Given the description of an element on the screen output the (x, y) to click on. 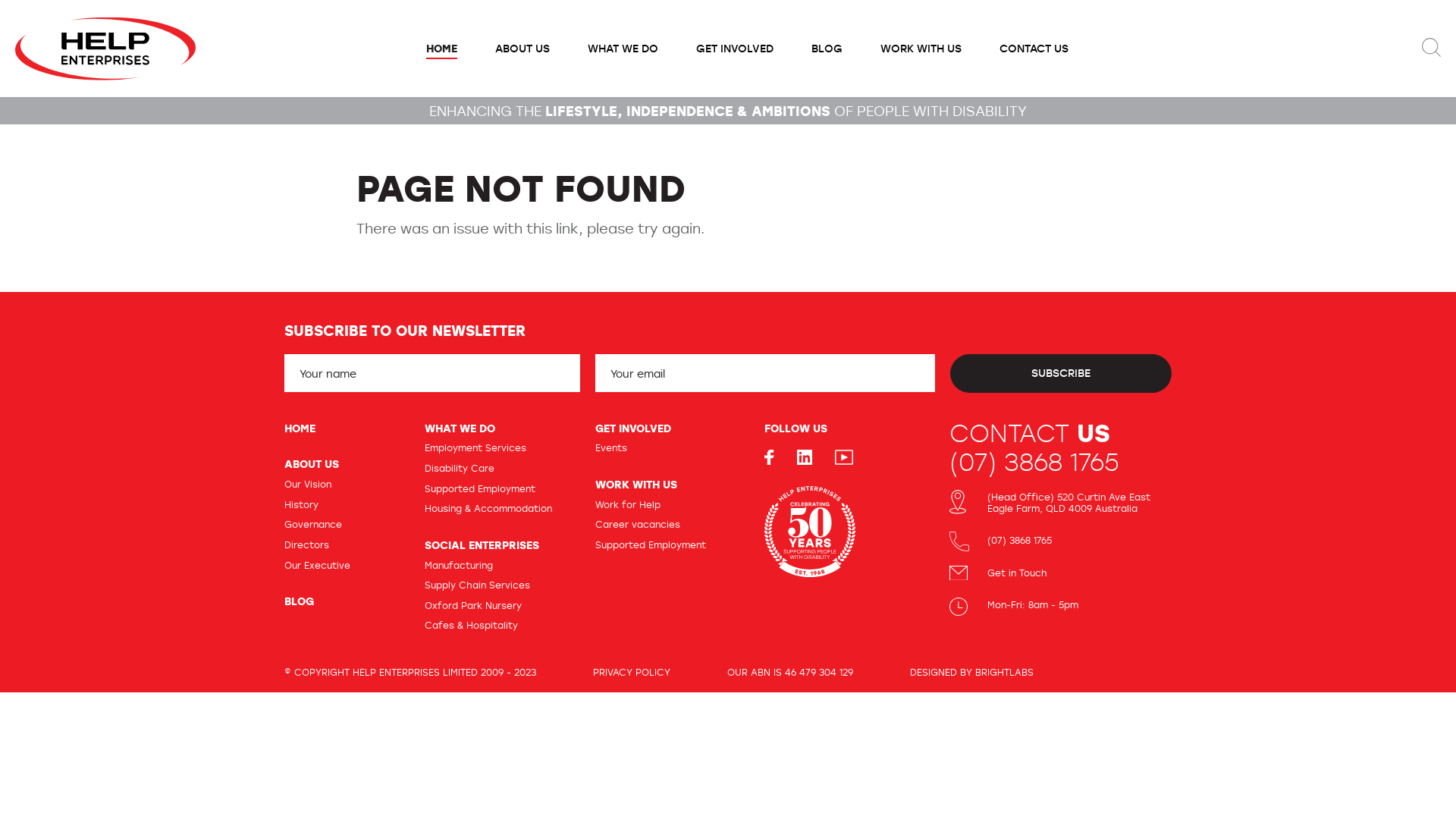
Disability Care Element type: text (459, 467)
Employment Services Element type: text (475, 447)
Work for Help Element type: text (627, 504)
DESIGNED BY BRIGHTLABS Element type: text (971, 671)
BLOG Element type: text (825, 48)
BLOG Element type: text (298, 600)
WORK WITH US Element type: text (920, 48)
Facebook Logo Element type: text (769, 459)
ABOUT US Element type: text (311, 463)
Directors Element type: text (306, 544)
Housing & Accommodation Element type: text (488, 508)
Manufacturing Element type: text (458, 564)
WORK WITH US Element type: text (636, 483)
(07) 3868 1765 Element type: text (1019, 539)
WHAT WE DO Element type: text (622, 48)
HELP ENTERPRISES Element type: text (105, 45)
Our Vision Element type: text (307, 483)
HOME Element type: text (440, 48)
Supply Chain Services Element type: text (477, 584)
Governance Element type: text (313, 523)
Oxford Park Nursery Element type: text (472, 605)
Cafes & Hospitality Element type: text (470, 624)
Career vacancies Element type: text (637, 523)
WHAT WE DO Element type: text (459, 427)
(07) 3868 1765 Element type: text (1034, 461)
Our Executive Element type: text (317, 564)
Get in Touch Element type: text (1017, 572)
PRIVACY POLICY Element type: text (631, 671)
ABOUT US Element type: text (522, 48)
HOME Element type: text (299, 427)
GET INVOLVED Element type: text (733, 48)
Youtube Element type: hover (843, 459)
CONTACT US Element type: text (1032, 48)
Events Element type: text (611, 447)
Supported Employment Element type: text (479, 488)
Supported Employment Element type: text (650, 544)
History Element type: text (301, 504)
SUBSCRIBE Element type: text (1060, 373)
Linkedin logo Element type: text (804, 459)
